Given the description of an element on the screen output the (x, y) to click on. 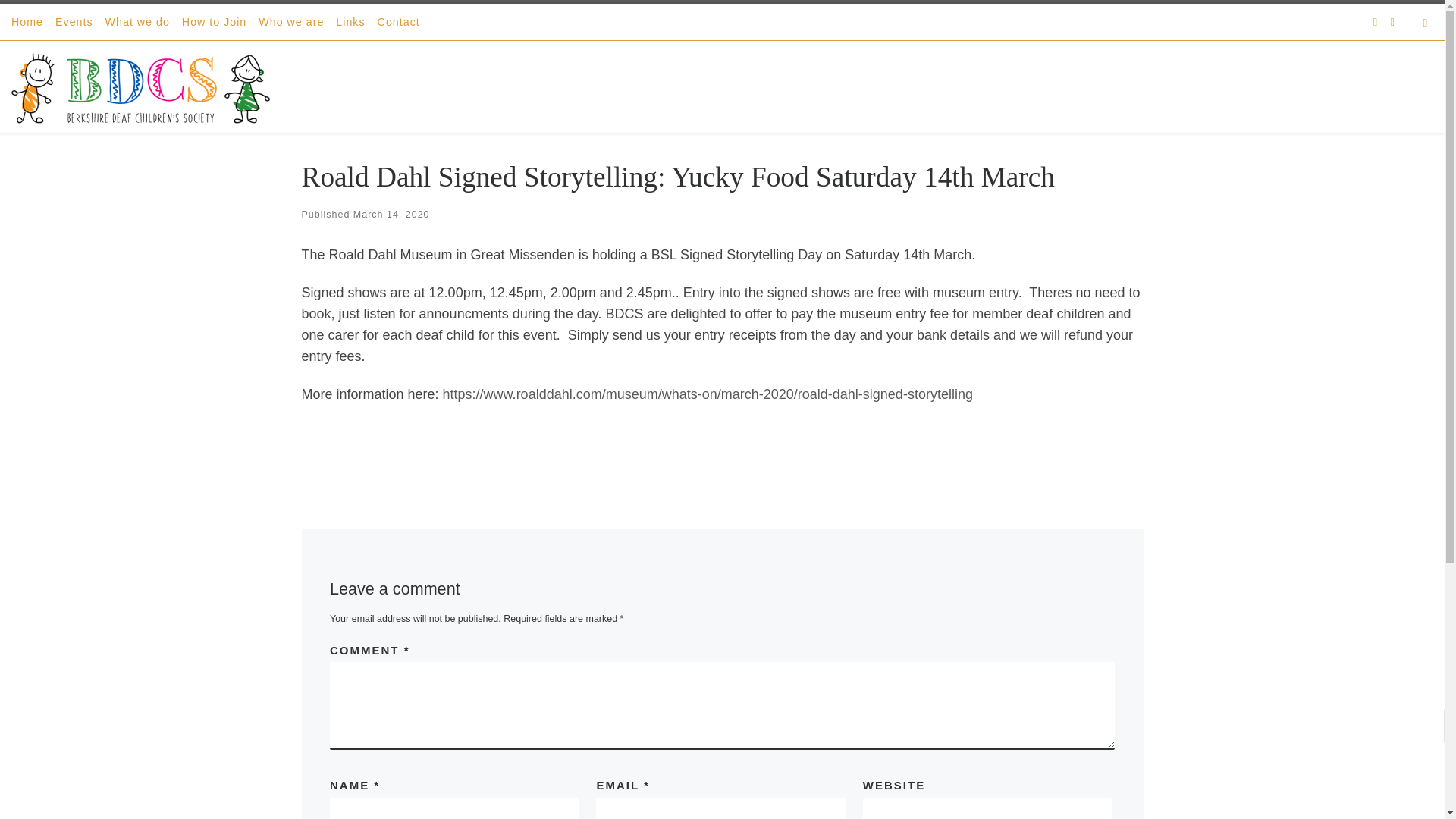
Who we are (291, 21)
Skip to content (60, 20)
How to Join (213, 21)
Contact (398, 21)
Events (74, 21)
March 14, 2020 (391, 214)
Home (27, 21)
12:00 pm (391, 214)
Links (350, 21)
What we do (137, 21)
